Given the description of an element on the screen output the (x, y) to click on. 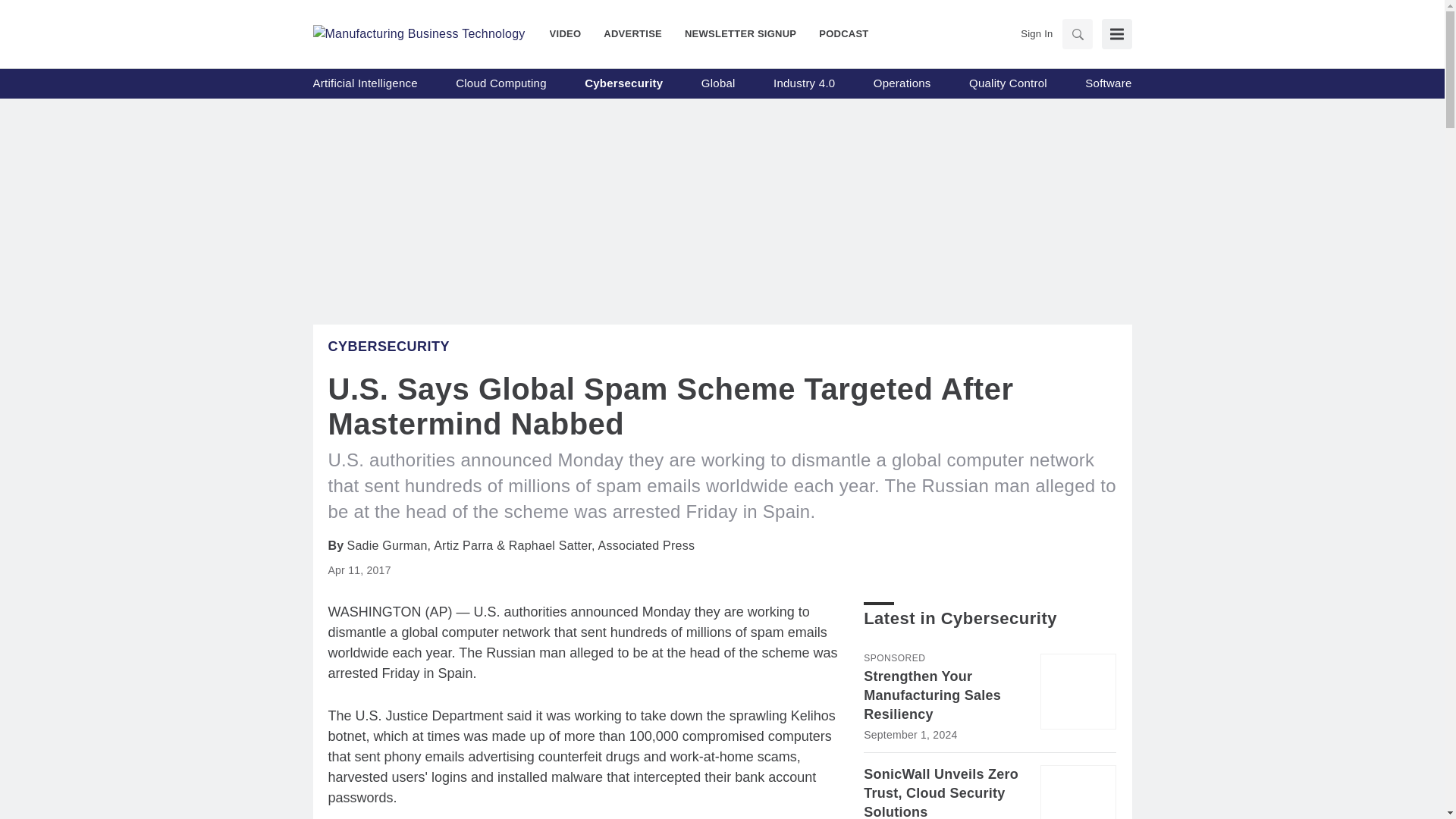
Industry 4.0 (803, 83)
NEWSLETTER SIGNUP (740, 33)
Sign In (1036, 33)
Software (1107, 83)
Operations (902, 83)
Global (718, 83)
Quality Control (1007, 83)
Cybersecurity (388, 346)
PODCAST (837, 33)
VIDEO (571, 33)
